Given the description of an element on the screen output the (x, y) to click on. 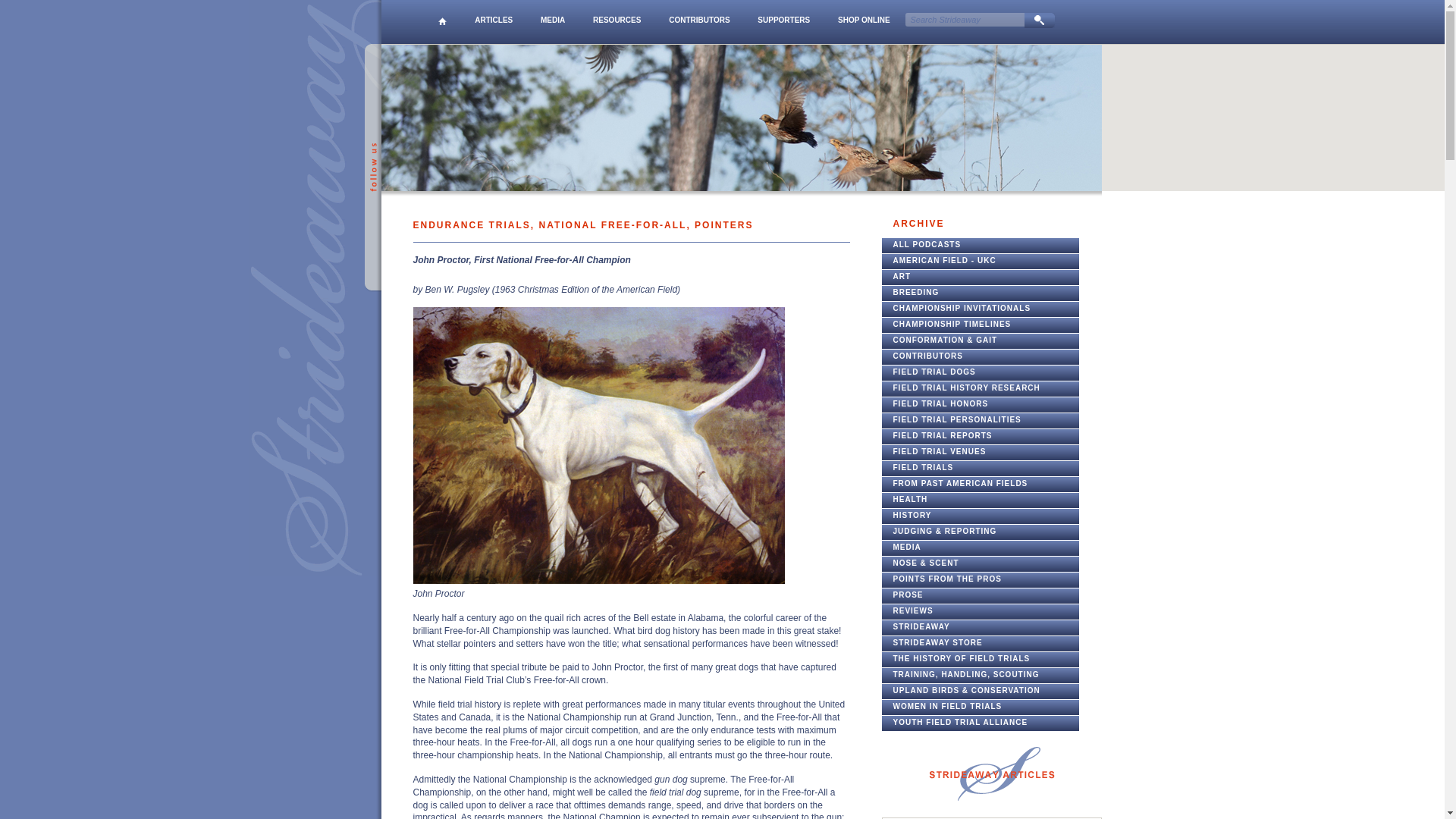
POINTERS (723, 225)
SHOP ONLINE (863, 22)
ENDURANCE TRIALS (470, 225)
Resources (616, 22)
CONTRIBUTORS (699, 22)
RESOURCES (616, 22)
Shop Online (863, 22)
ARTICLES (493, 22)
Search Strideaway (965, 19)
NATIONAL FREE-FOR-ALL (612, 225)
MEDIA (552, 22)
SUPPORTERS (783, 22)
Supporters (783, 22)
